Given the description of an element on the screen output the (x, y) to click on. 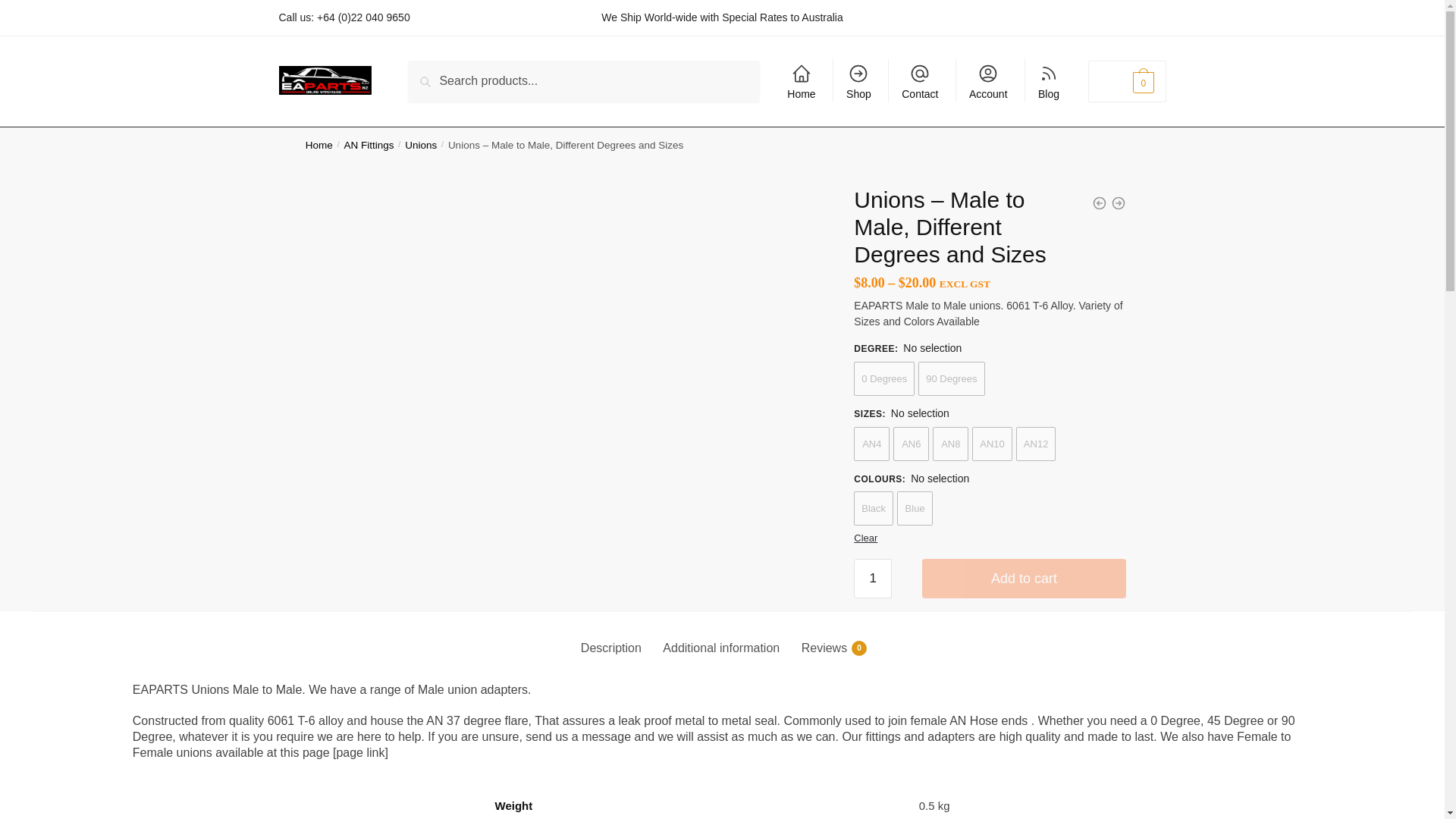
Shop (858, 80)
AN10 (991, 443)
View your shopping cart (1126, 81)
90 Degrees (951, 378)
0 Degrees (883, 378)
AN Fittings (368, 144)
Blog (1048, 80)
Contact (919, 80)
Unions (420, 144)
Account (987, 80)
1 (872, 578)
AN6 (910, 443)
AN8 (950, 443)
AN10 (991, 443)
Home (319, 144)
